Given the description of an element on the screen output the (x, y) to click on. 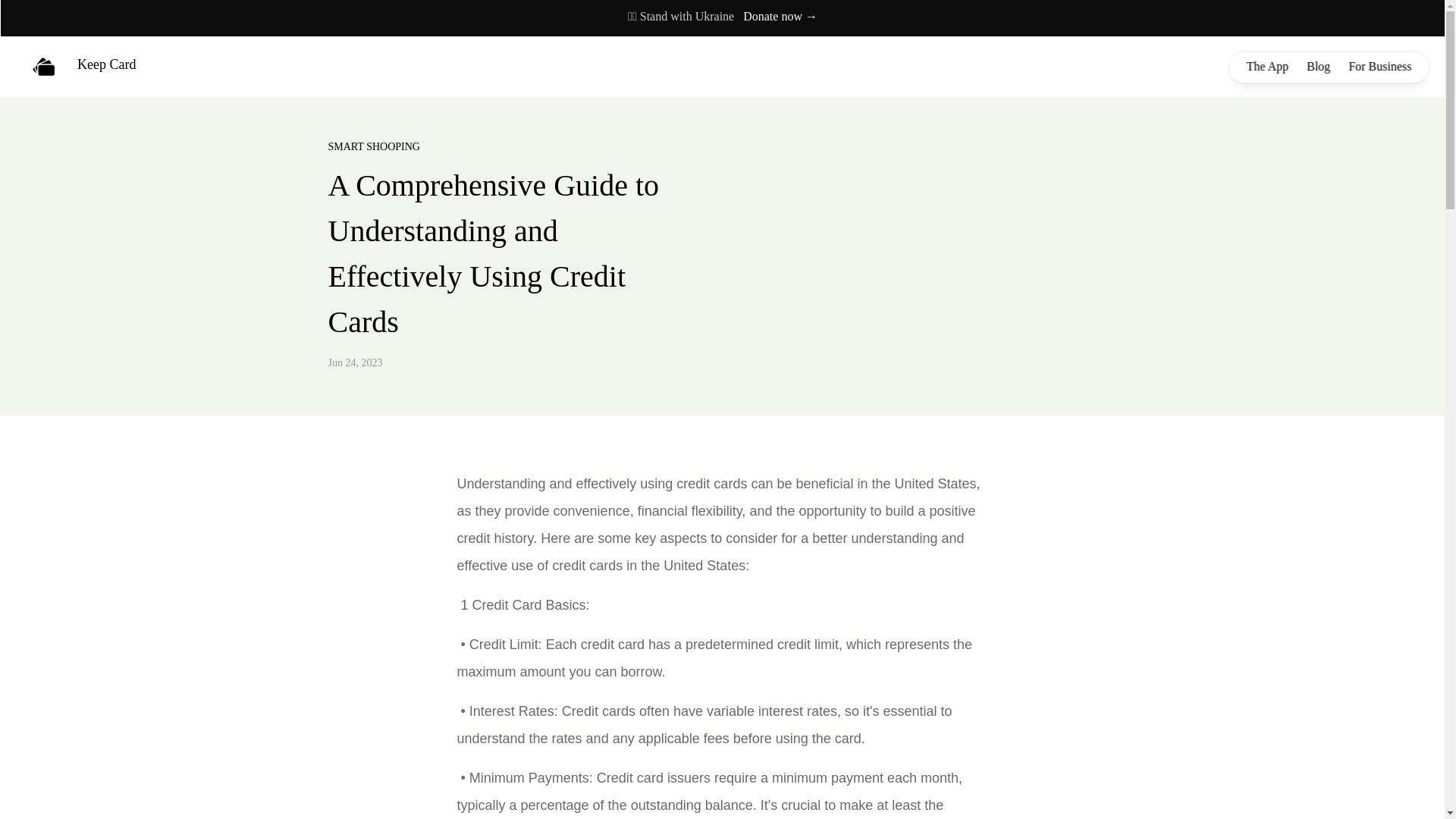
Blog (1318, 65)
Keep Card (83, 66)
The App (1267, 65)
For Business (1379, 65)
